Given the description of an element on the screen output the (x, y) to click on. 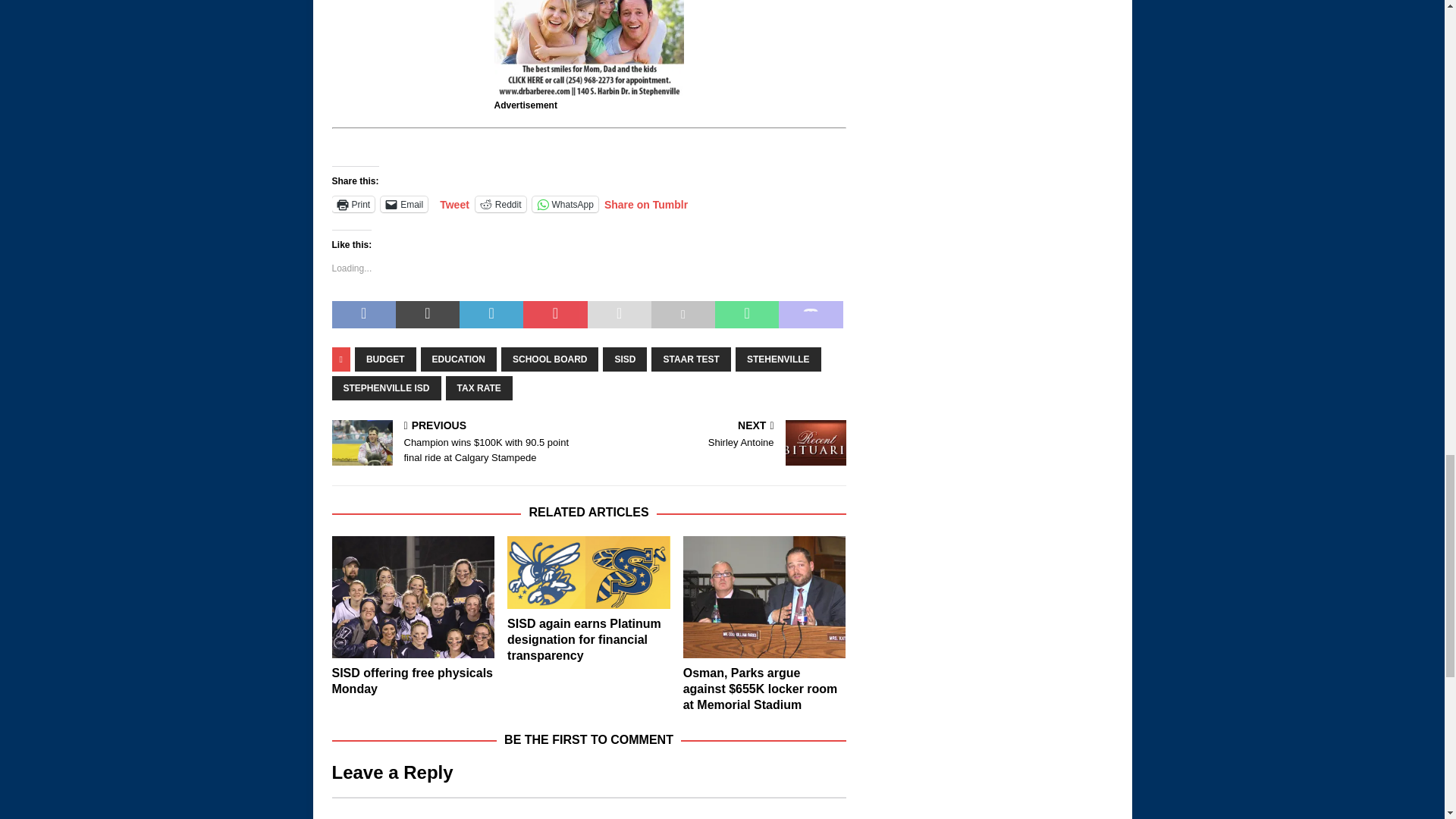
Email (404, 204)
Tweet (453, 202)
Print (353, 204)
